Given the description of an element on the screen output the (x, y) to click on. 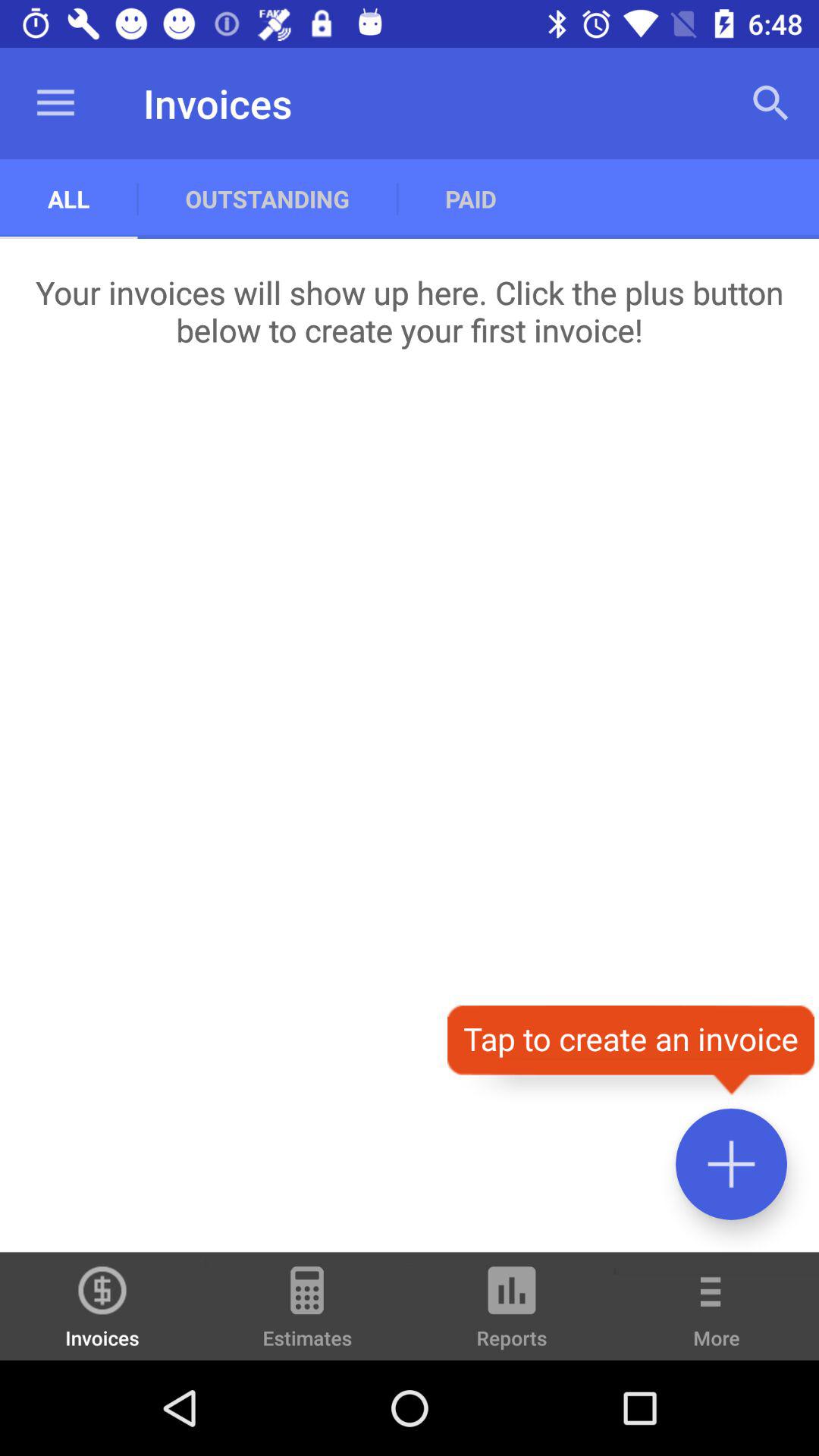
click icon to the right of the reports (716, 1317)
